Given the description of an element on the screen output the (x, y) to click on. 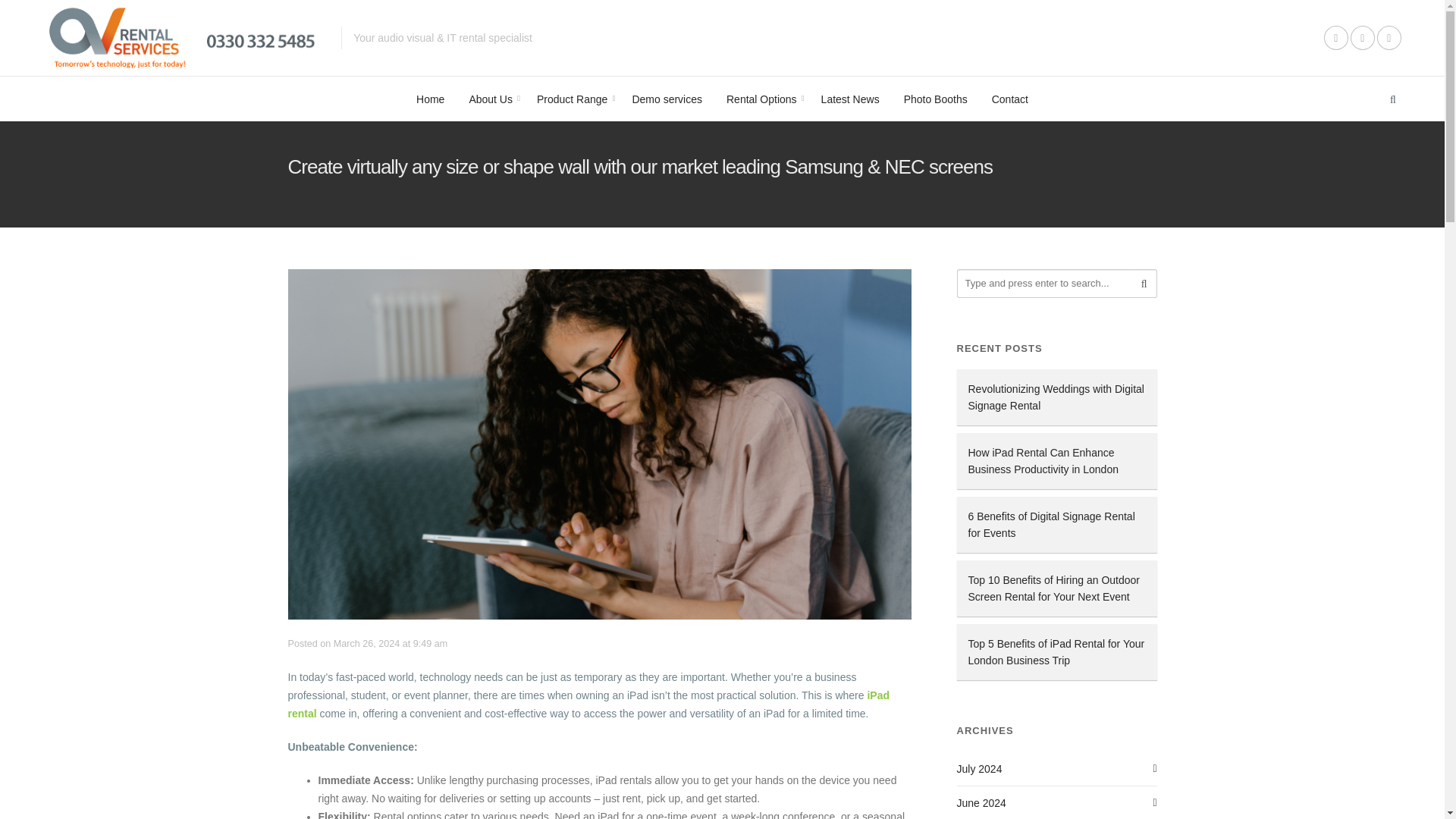
Product Range (572, 99)
About Us (490, 99)
Home (430, 99)
